Given the description of an element on the screen output the (x, y) to click on. 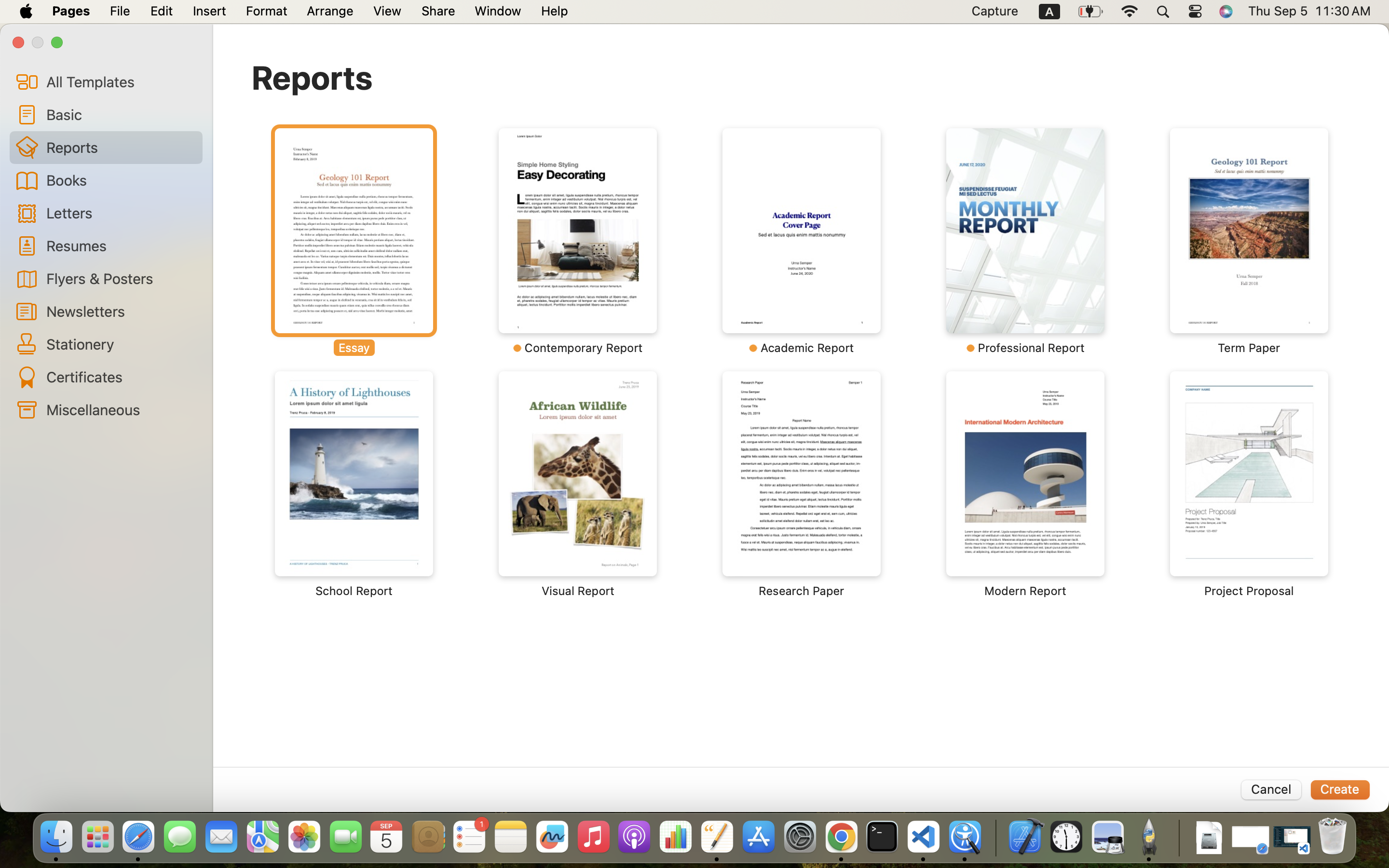
‎⁨Essay⁩ Element type: AXButton (353, 241)
Flyers & Posters Element type: AXStaticText (120, 278)
‎⁨Project Proposal⁩ Element type: AXButton (1249, 484)
‎⁨School Report⁩ Element type: AXButton (353, 484)
